Given the description of an element on the screen output the (x, y) to click on. 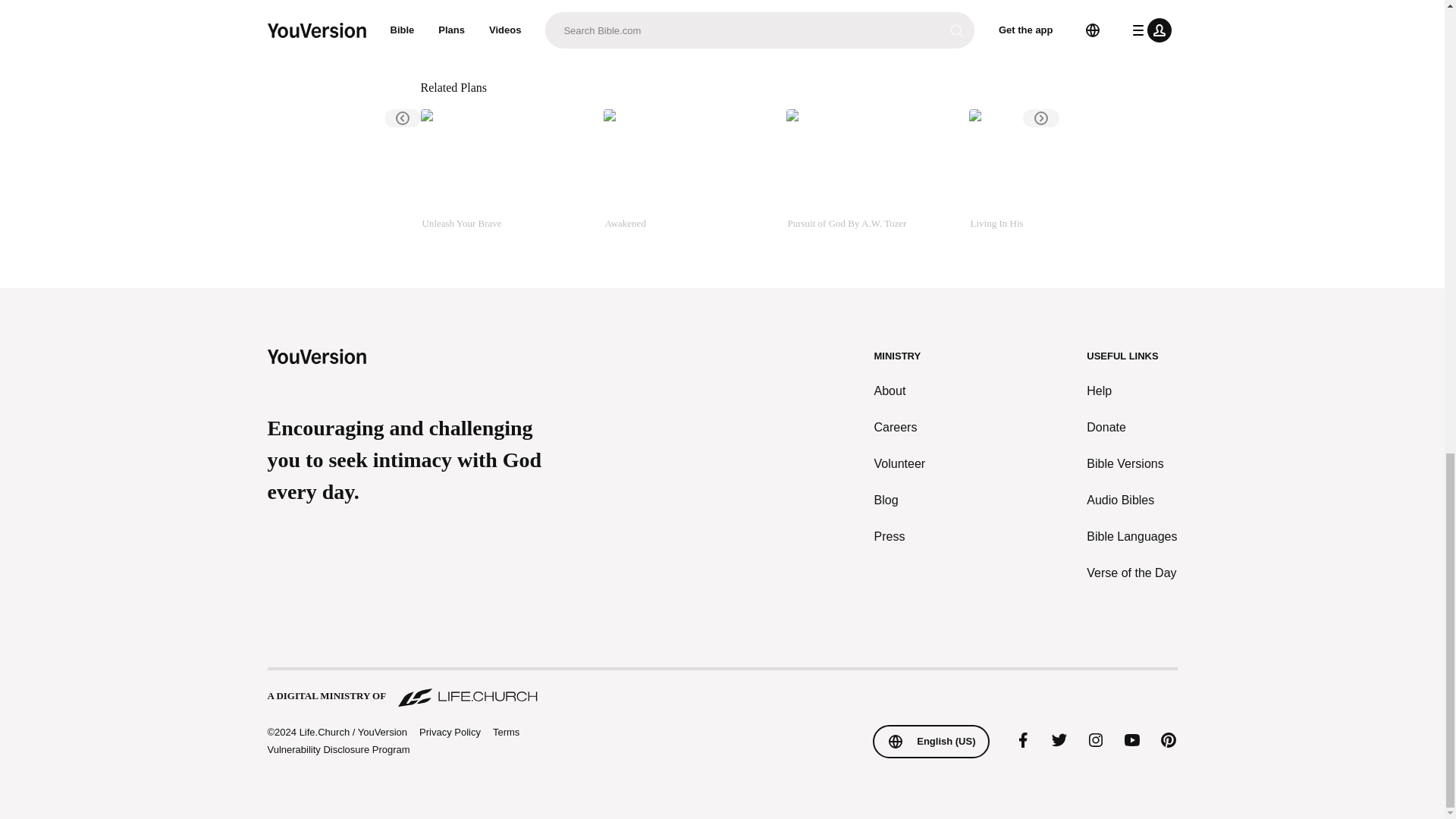
Careers (900, 427)
About (900, 391)
Vulnerability Disclosure Program (337, 749)
Audio Bibles (1131, 500)
Press (900, 536)
Privacy Policy (449, 732)
Living In His Light By Nina Smit (1054, 176)
Pursuit of God By A.W. Tozer (871, 176)
Unleash Your Brave (505, 176)
A DIGITAL MINISTRY OF (721, 688)
